Given the description of an element on the screen output the (x, y) to click on. 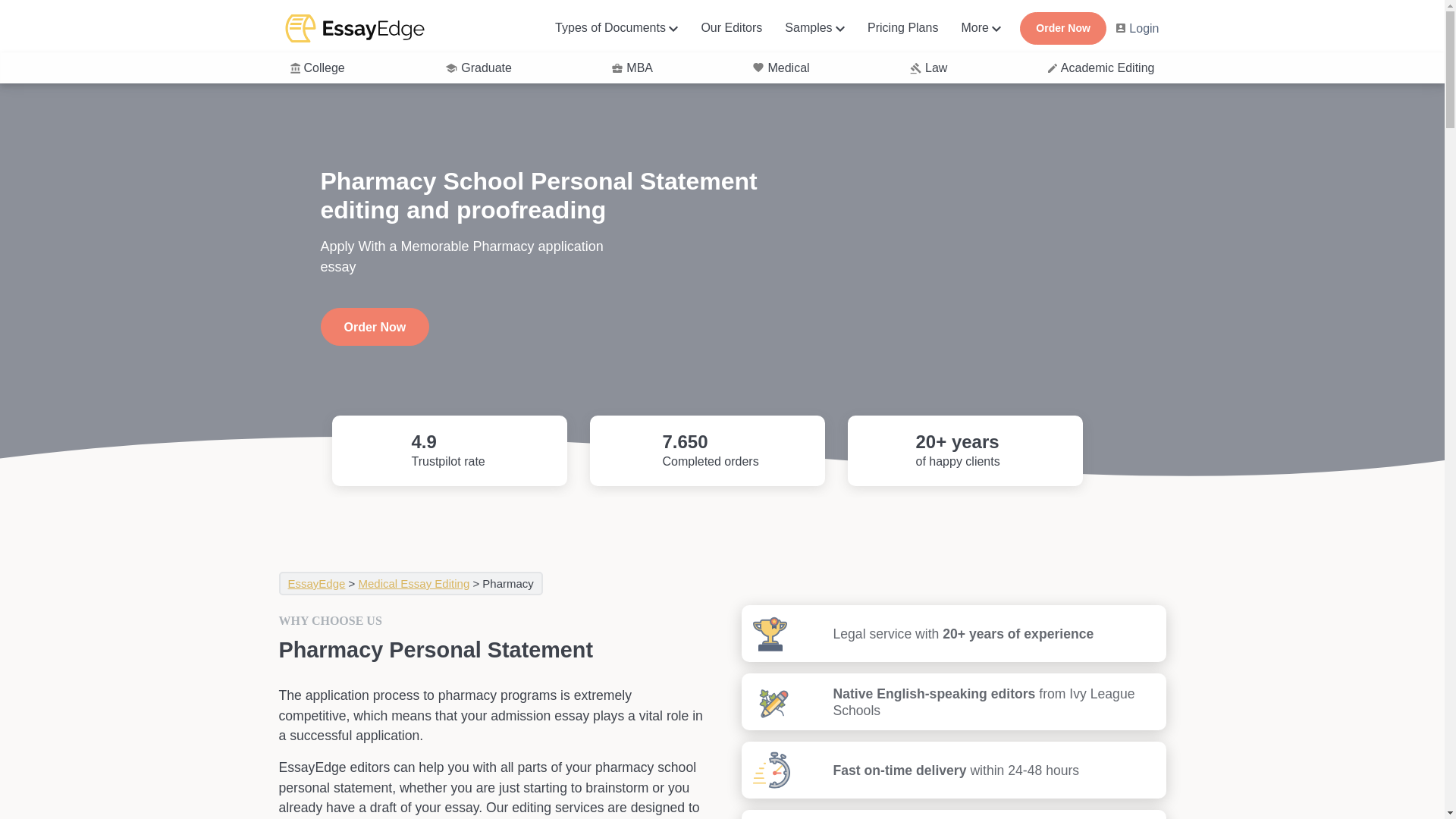
Medical (780, 67)
Pricing Plans (902, 27)
Login (1137, 28)
College (316, 67)
Types of Documents (609, 27)
Samples (807, 27)
Our Editors (730, 27)
Home (354, 26)
More (974, 27)
Graduate (478, 67)
